Given the description of an element on the screen output the (x, y) to click on. 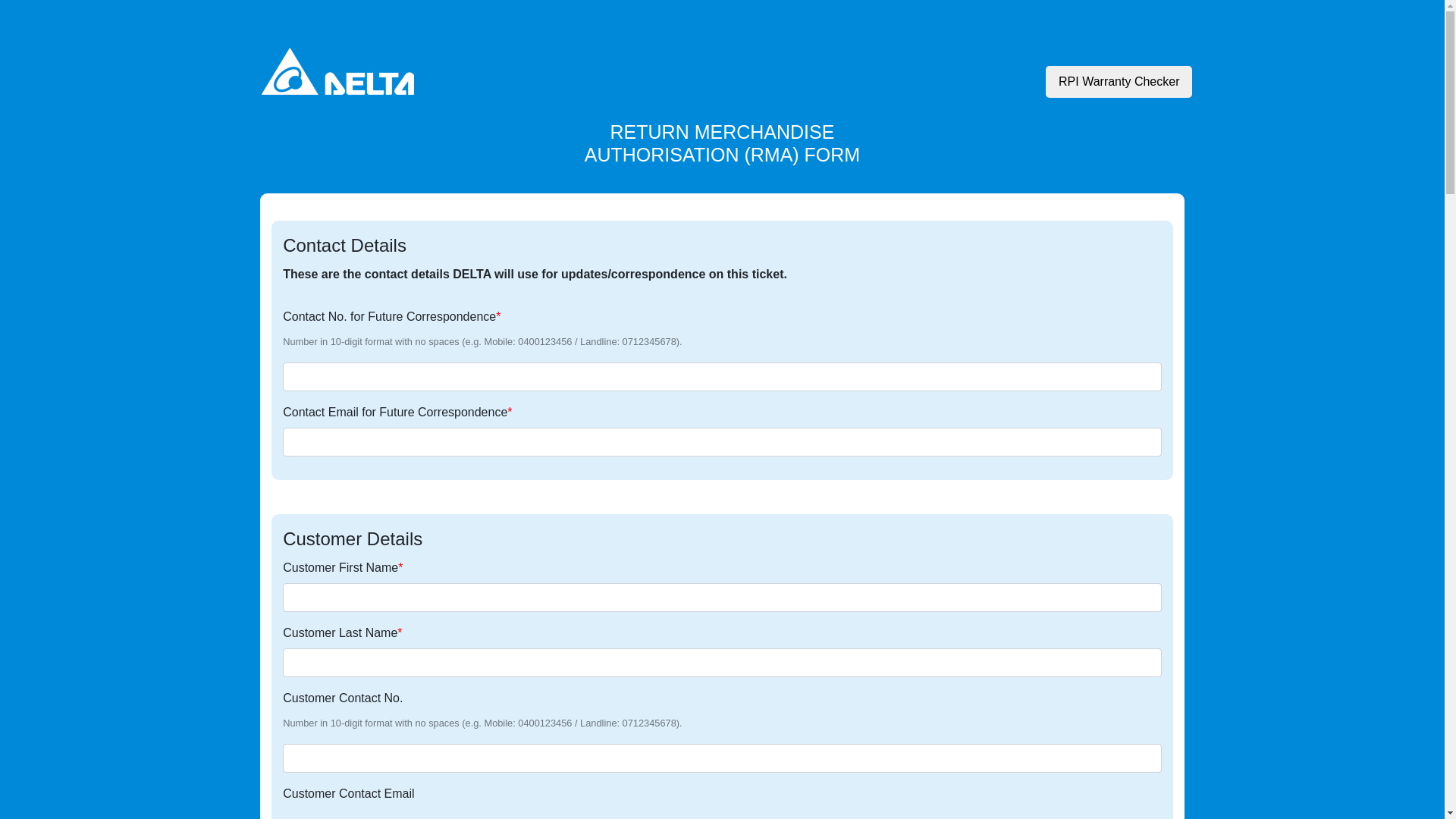
RPI Warranty Checker Element type: text (1118, 81)
